Given the description of an element on the screen output the (x, y) to click on. 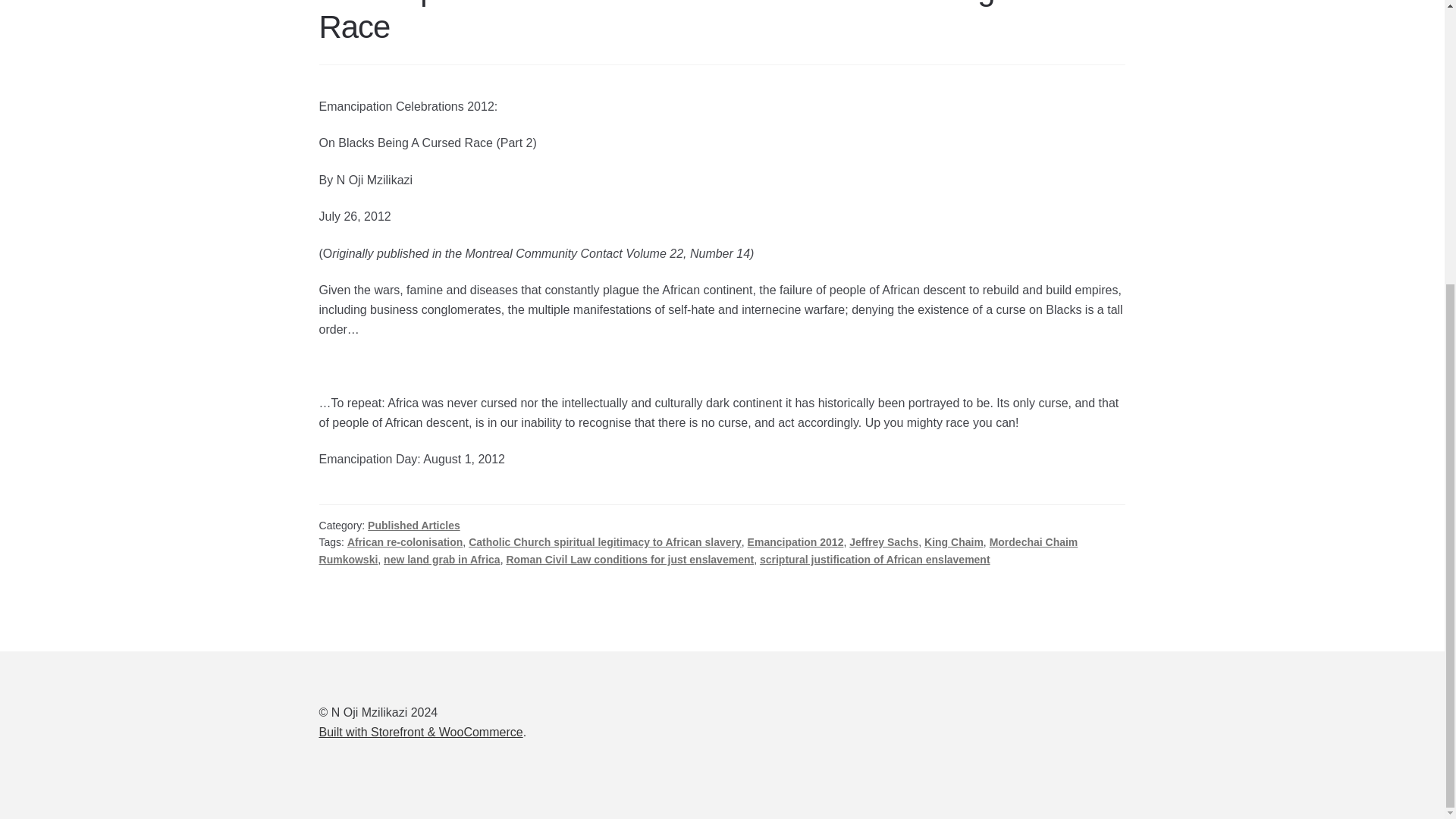
Emancipation 2012 (796, 541)
new land grab in Africa (442, 559)
Roman Civil Law conditions for just enslavement (629, 559)
Published Articles (414, 525)
African re-colonisation (405, 541)
Mordechai Chaim Rumkowski (698, 550)
King Chaim (954, 541)
Catholic Church spiritual legitimacy to African slavery (604, 541)
scriptural justification of African enslavement (875, 559)
